Given the description of an element on the screen output the (x, y) to click on. 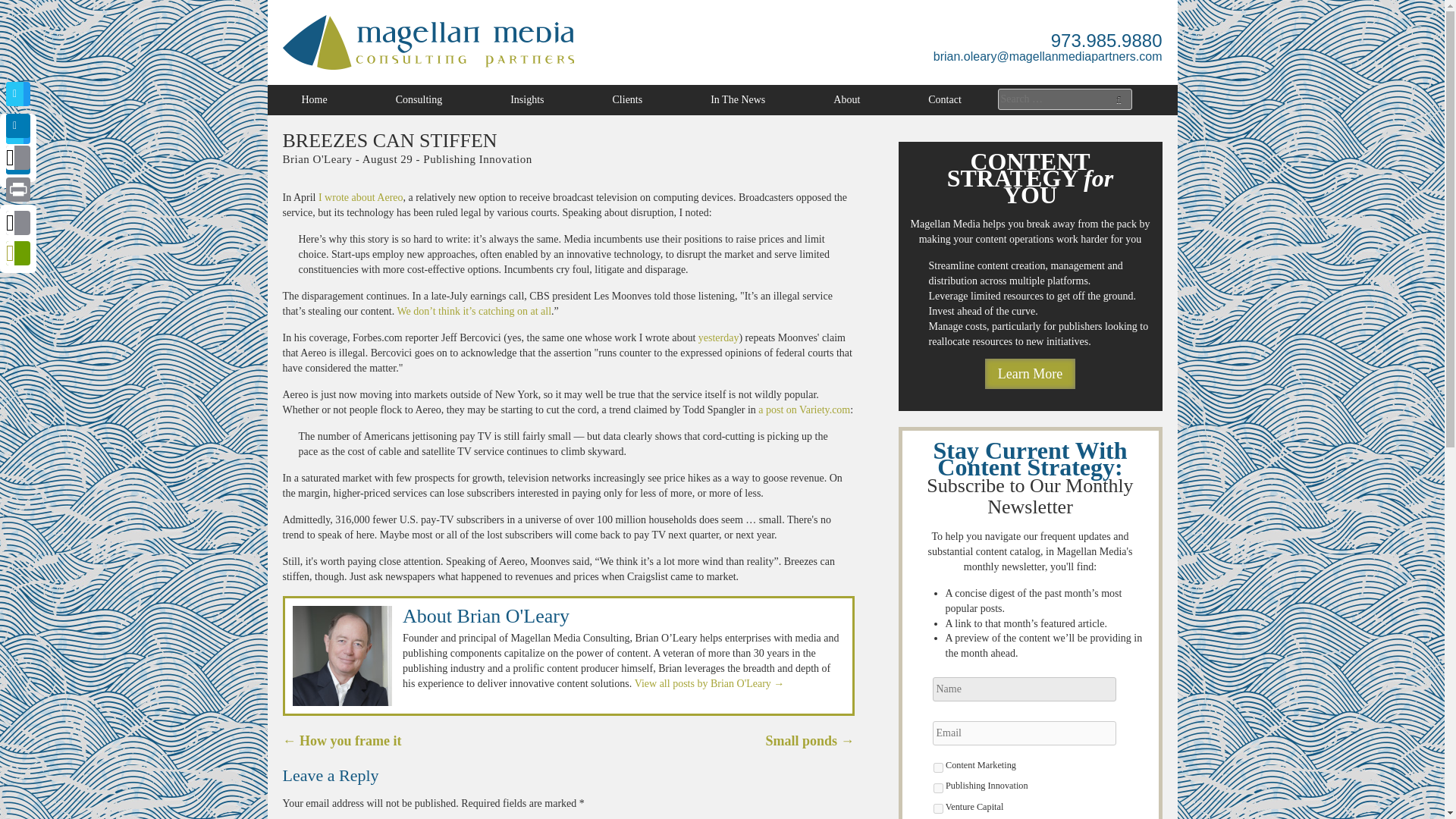
LinkedIn (17, 126)
Twitter (17, 94)
a post on Variety.com (804, 409)
Consulting (418, 100)
yesterday (718, 337)
Email (17, 158)
Home (313, 100)
Contact (944, 100)
In The News (738, 100)
LinkedIn (17, 163)
Twitter (17, 132)
About (846, 100)
PrintFriendly (17, 254)
Email (17, 223)
Clients (627, 100)
